Given the description of an element on the screen output the (x, y) to click on. 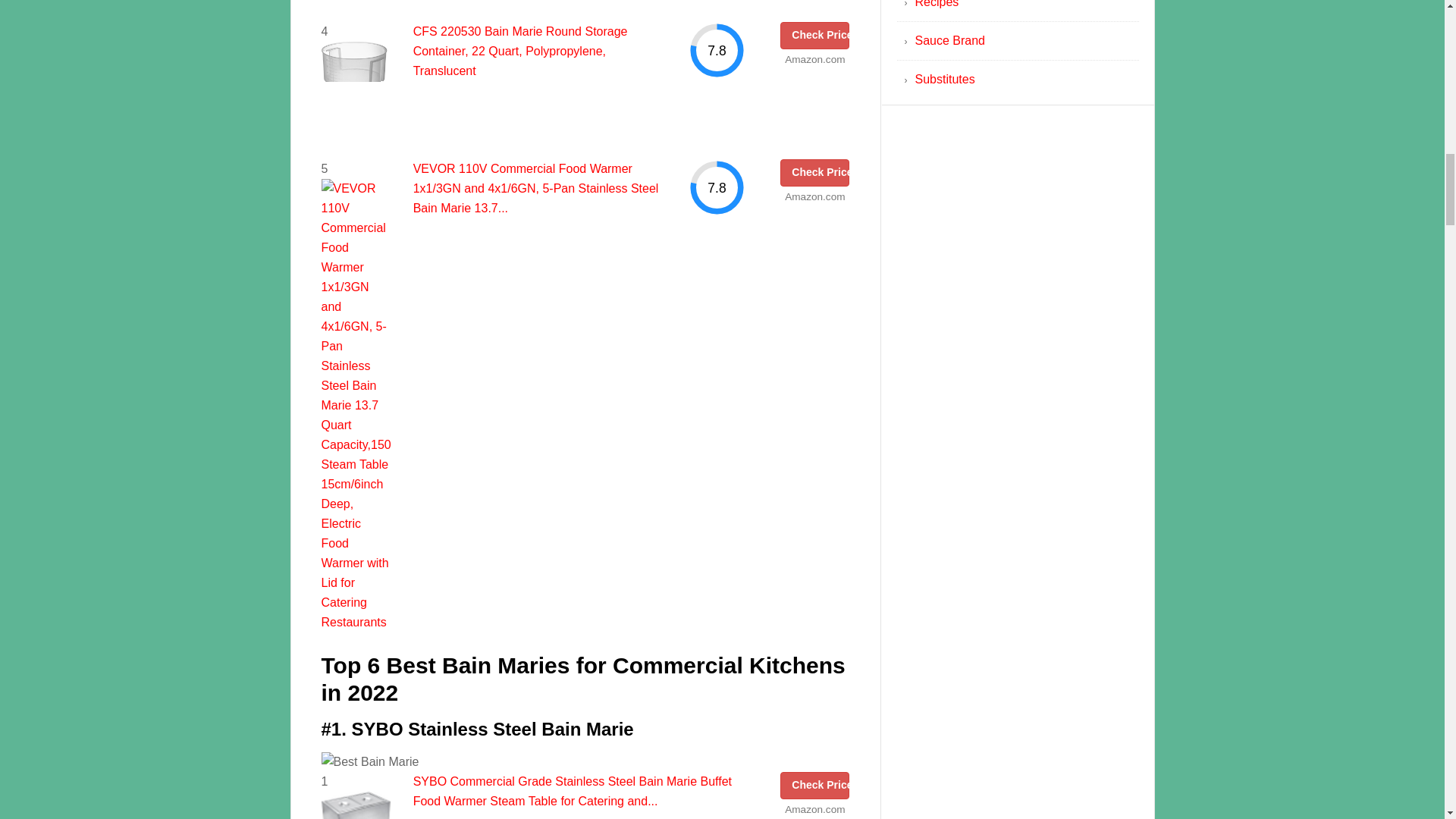
7.8 (716, 187)
Check Price (814, 35)
7.8 (716, 50)
